Given the description of an element on the screen output the (x, y) to click on. 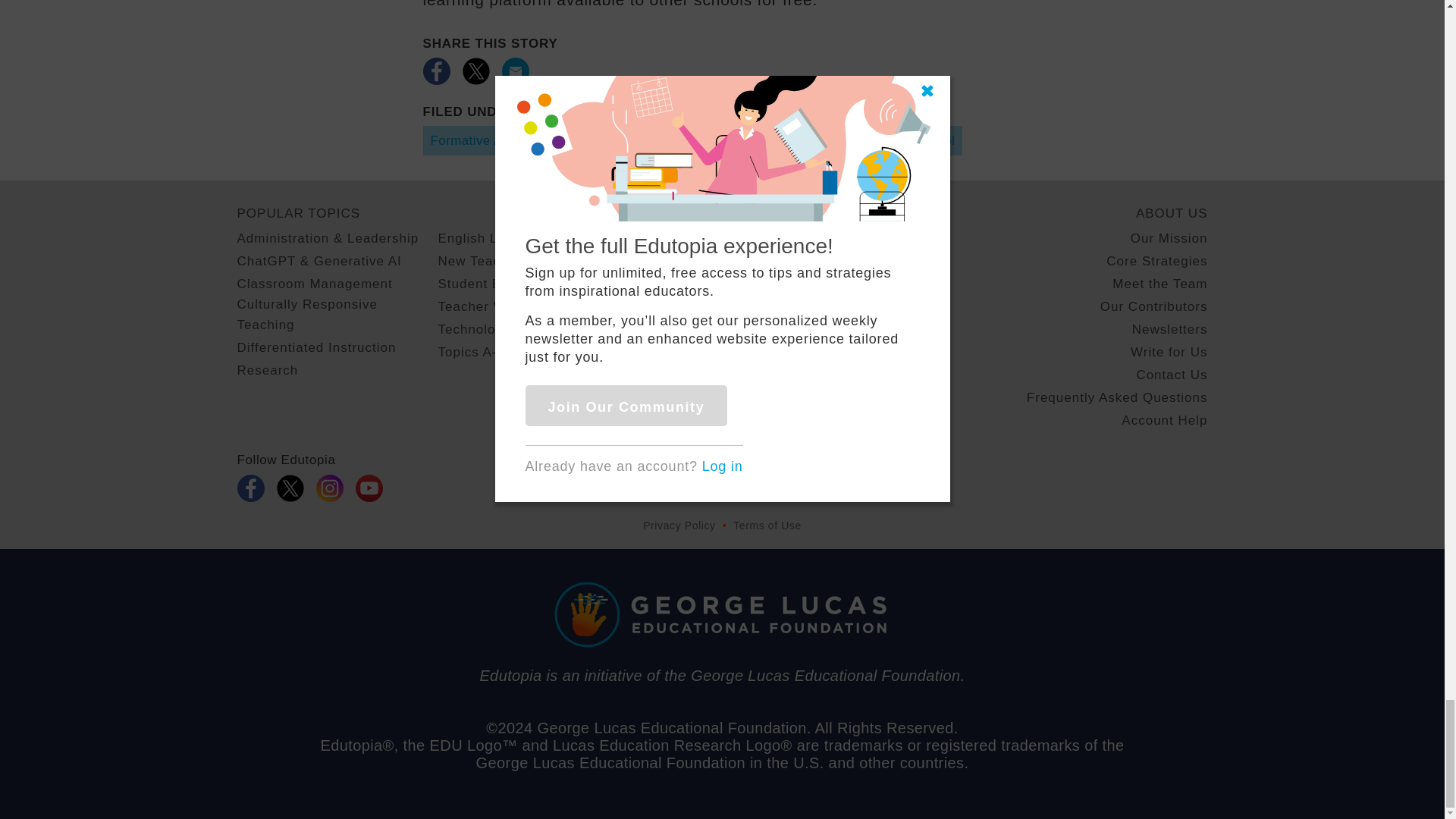
Assessment (623, 140)
Classroom Management (313, 283)
9-12 High School (902, 140)
English Language Learners (526, 238)
Formative Assessment (499, 140)
New Teachers (483, 260)
Research (266, 370)
Culturally Responsive Teaching (336, 314)
Differentiated Instruction (756, 140)
Differentiated Instruction (315, 347)
